Given the description of an element on the screen output the (x, y) to click on. 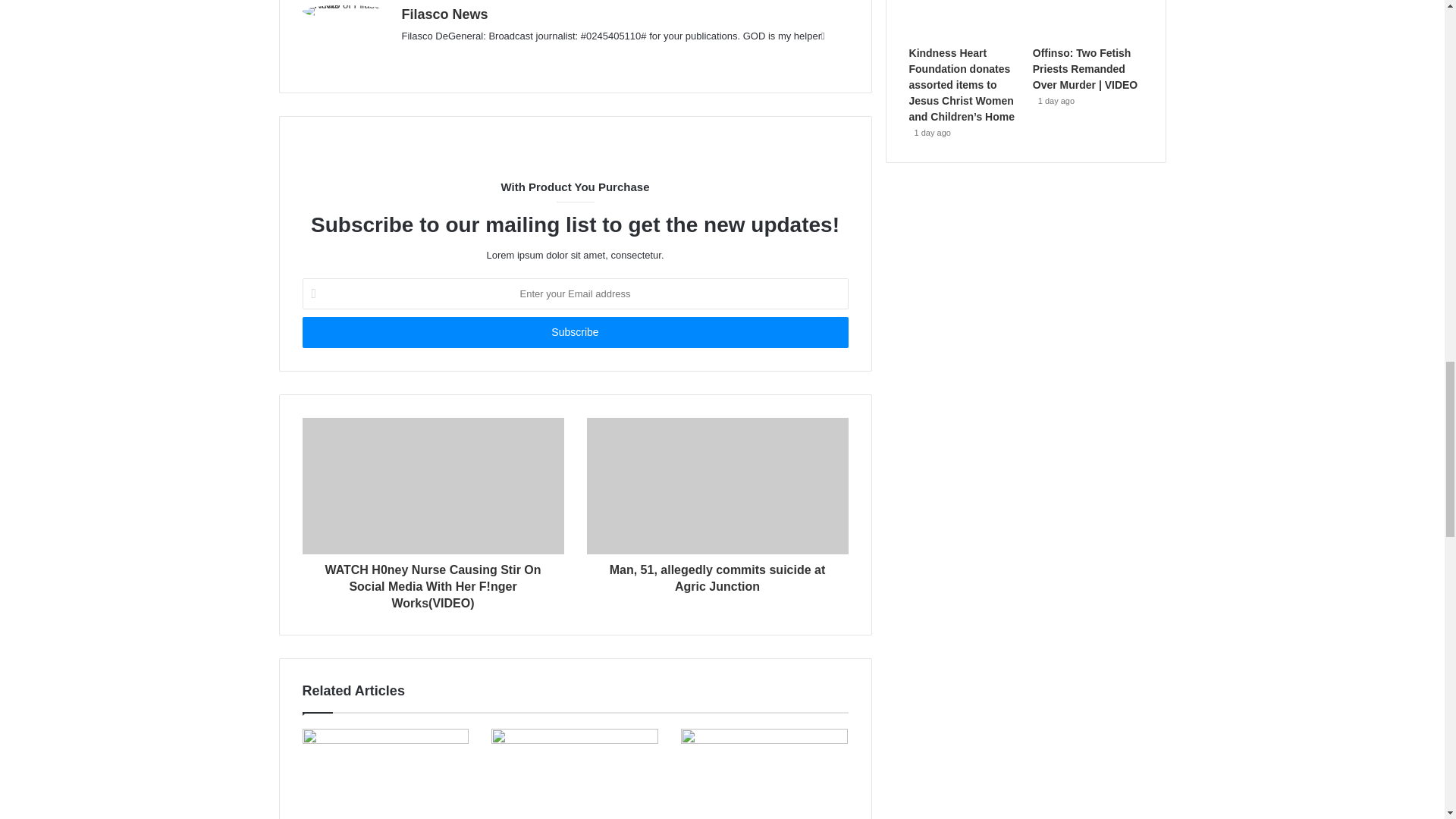
Subscribe (574, 332)
